Given the description of an element on the screen output the (x, y) to click on. 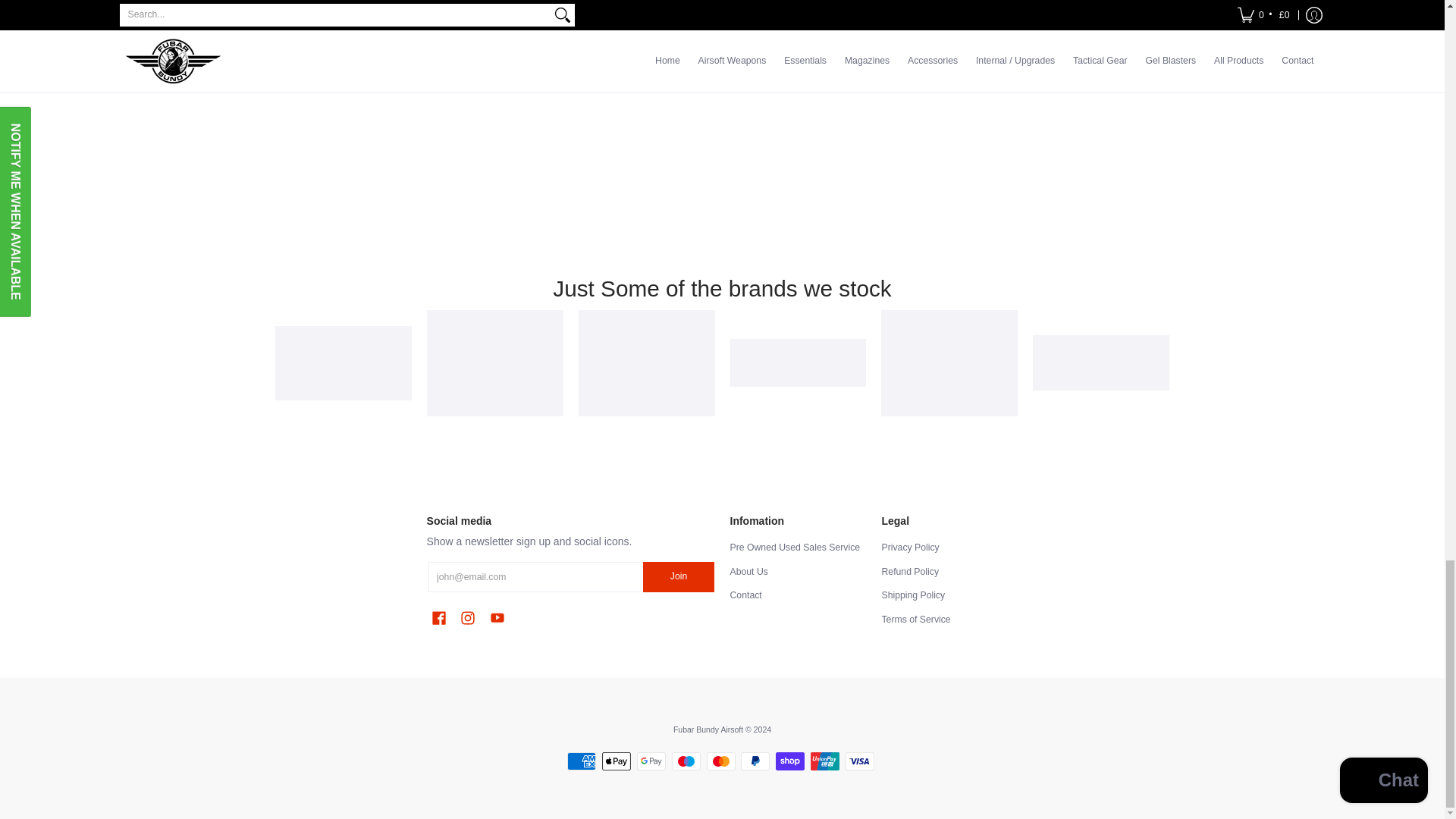
PayPal (755, 761)
Google Pay (651, 761)
Mastercard (720, 761)
Shop Pay (790, 761)
Apple Pay (616, 761)
Maestro (685, 761)
Union Pay (825, 761)
Visa (860, 761)
American Express (581, 761)
